Given the description of an element on the screen output the (x, y) to click on. 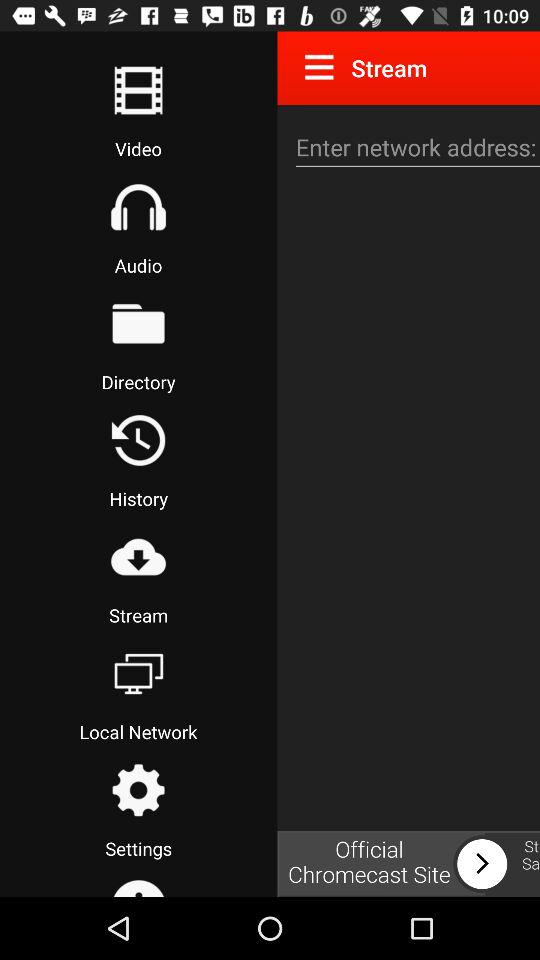
digite o email (415, 147)
